Given the description of an element on the screen output the (x, y) to click on. 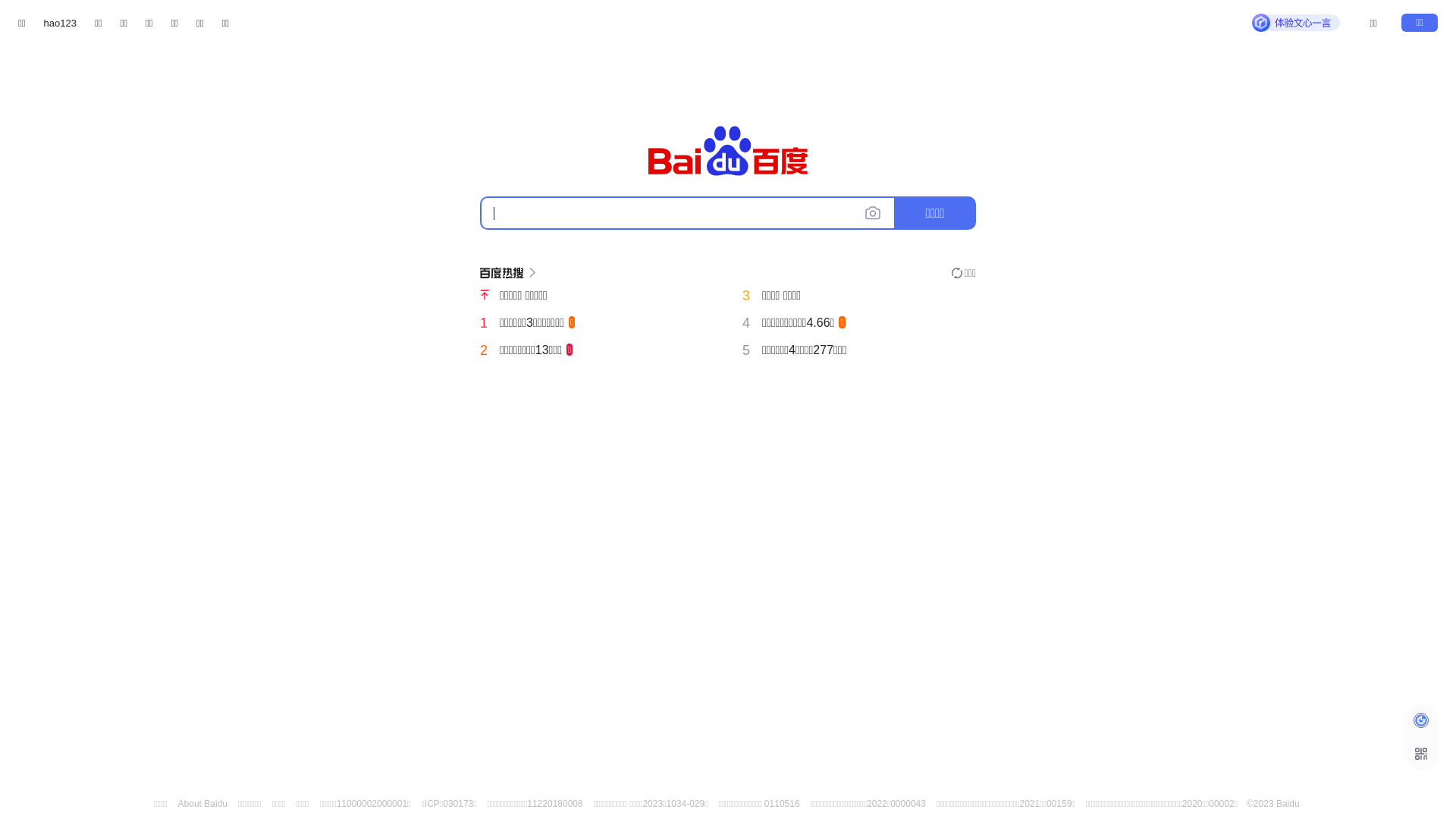
hao123 Element type: text (59, 22)
About Baidu Element type: text (202, 803)
